Given the description of an element on the screen output the (x, y) to click on. 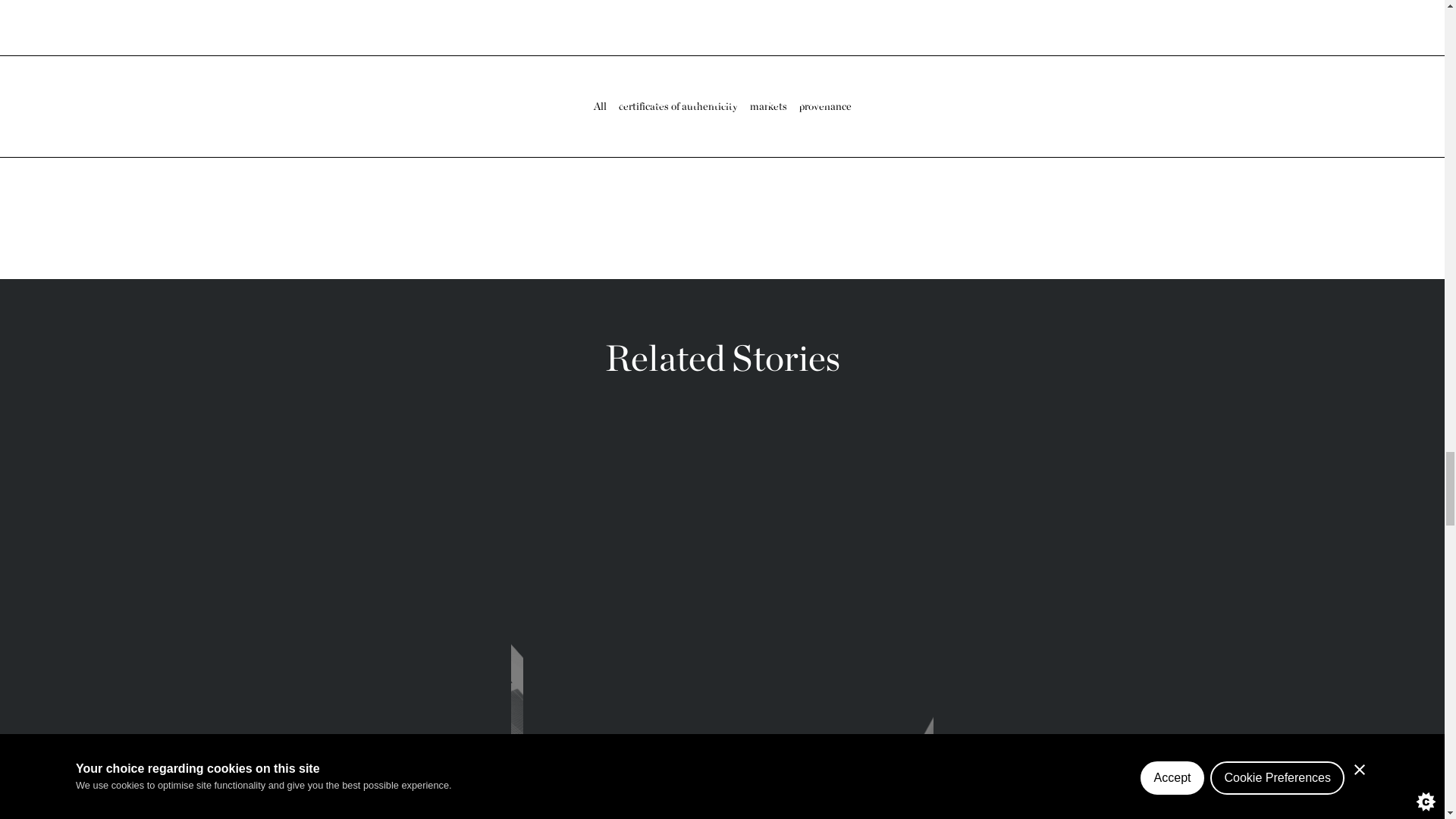
provenance (825, 106)
certificates of authenticity (678, 106)
markets (767, 106)
